Given the description of an element on the screen output the (x, y) to click on. 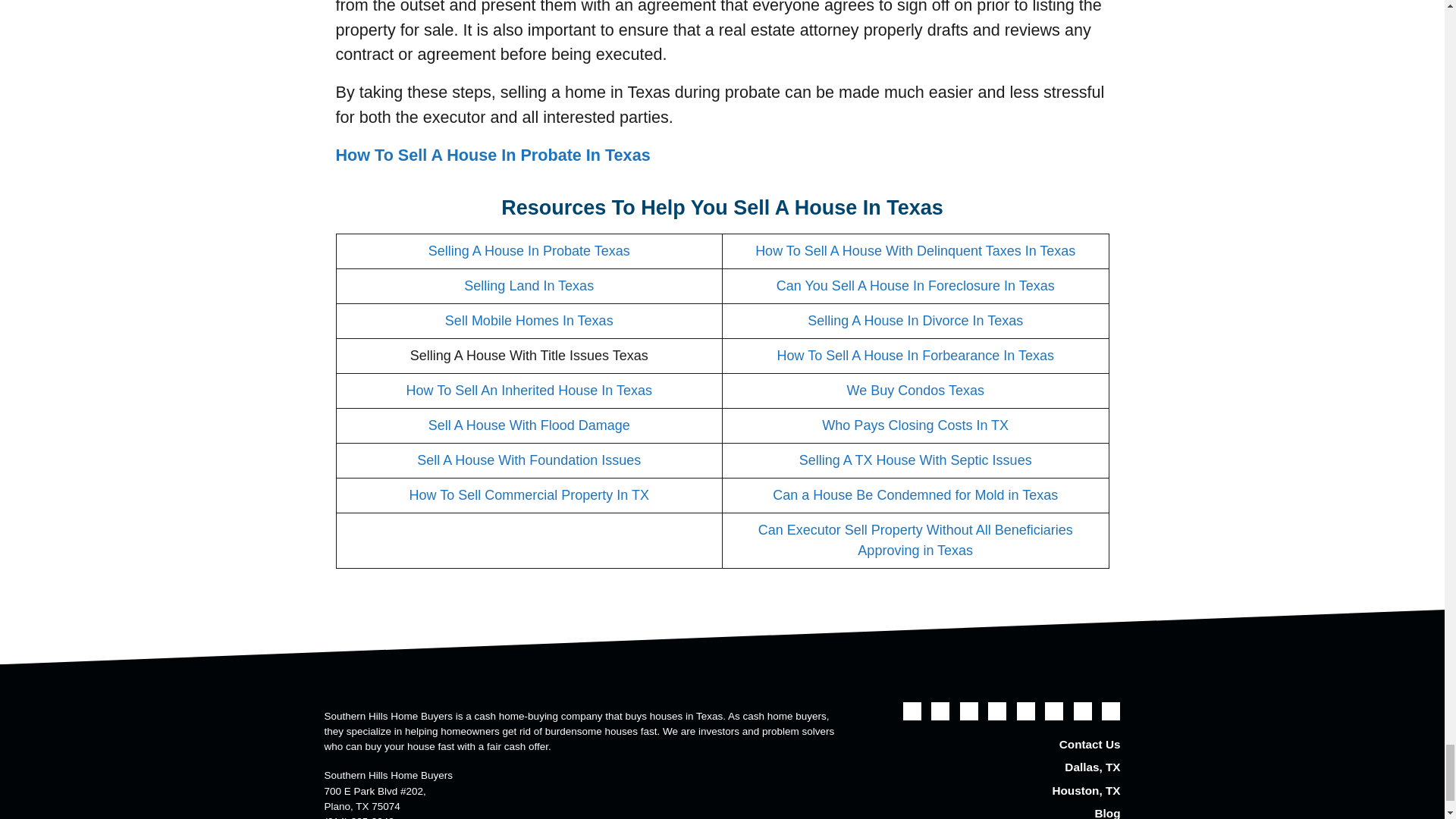
How To Sell A House In Probate In Texas (491, 154)
Selling A House In Probate Texas (529, 250)
